Given the description of an element on the screen output the (x, y) to click on. 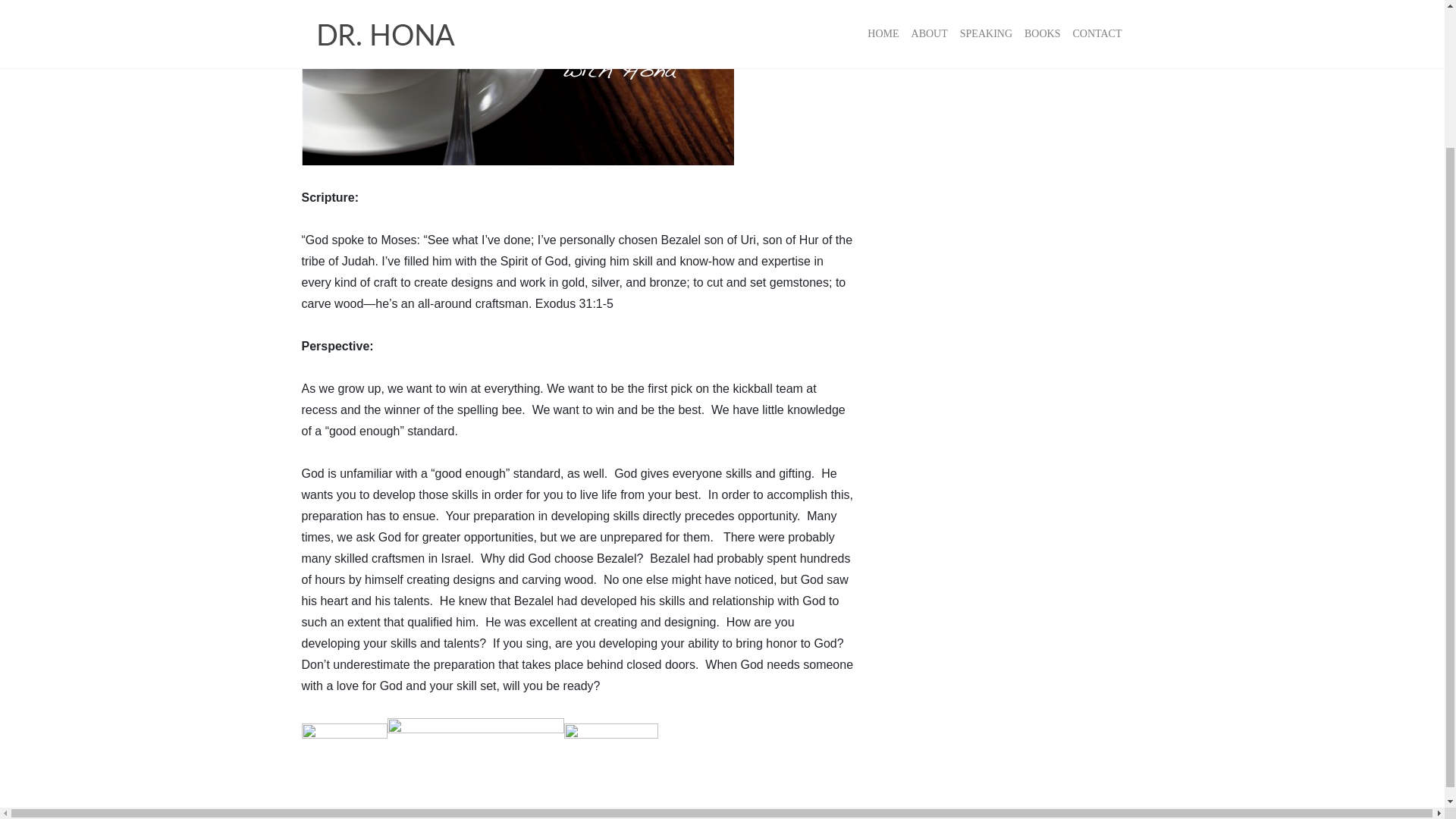
followtwit2 (344, 743)
facebookvisit (611, 743)
coffeeheader (518, 83)
signup5 (475, 743)
